Given the description of an element on the screen output the (x, y) to click on. 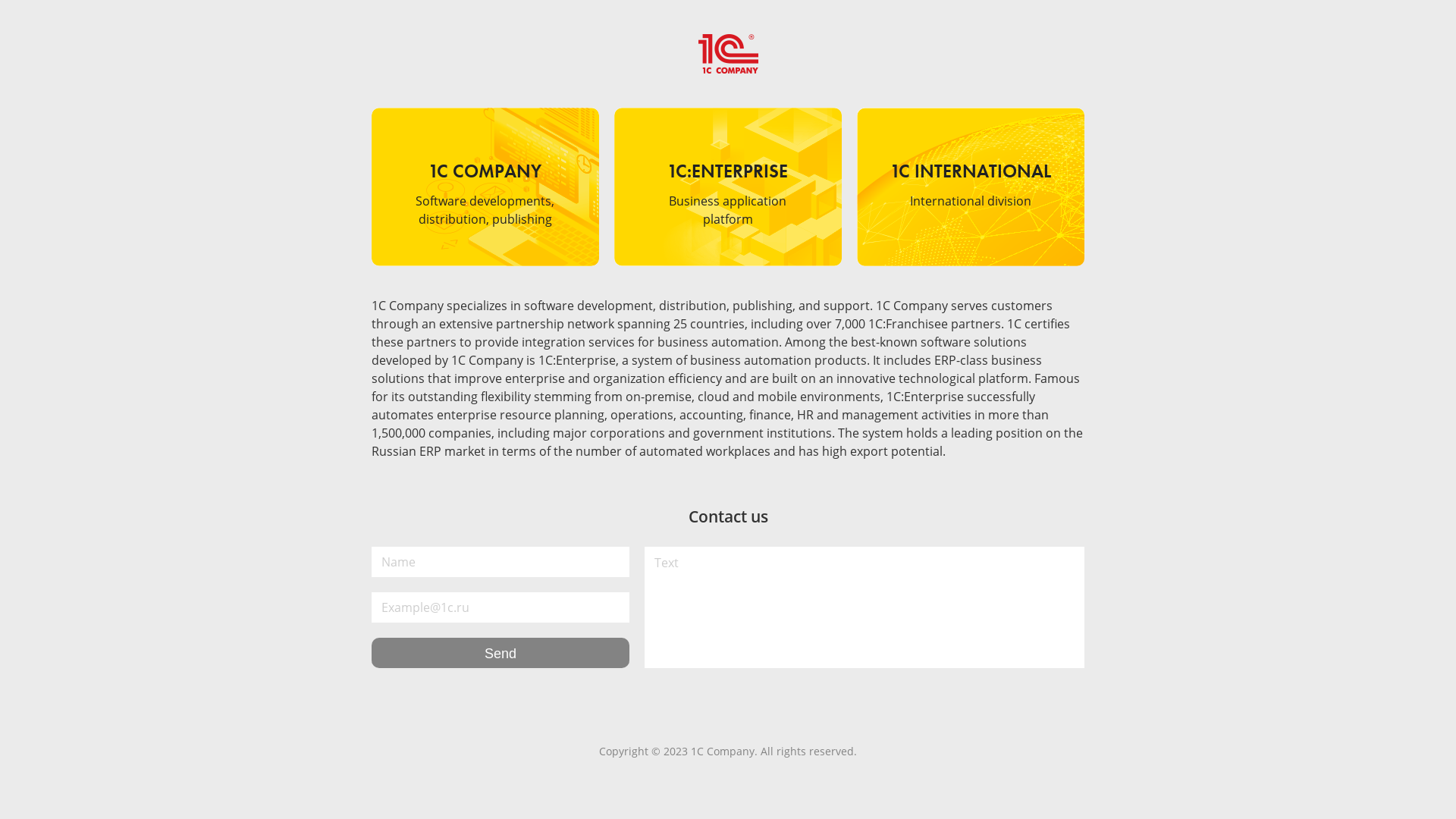
1C INTERNATIONAL
International division Element type: text (970, 186)
1C:ENTERPRISE
Business application
platform Element type: text (727, 186)
1C COMPANY
Software developments,
distribution, publishing Element type: text (485, 186)
Send Element type: text (500, 652)
